Given the description of an element on the screen output the (x, y) to click on. 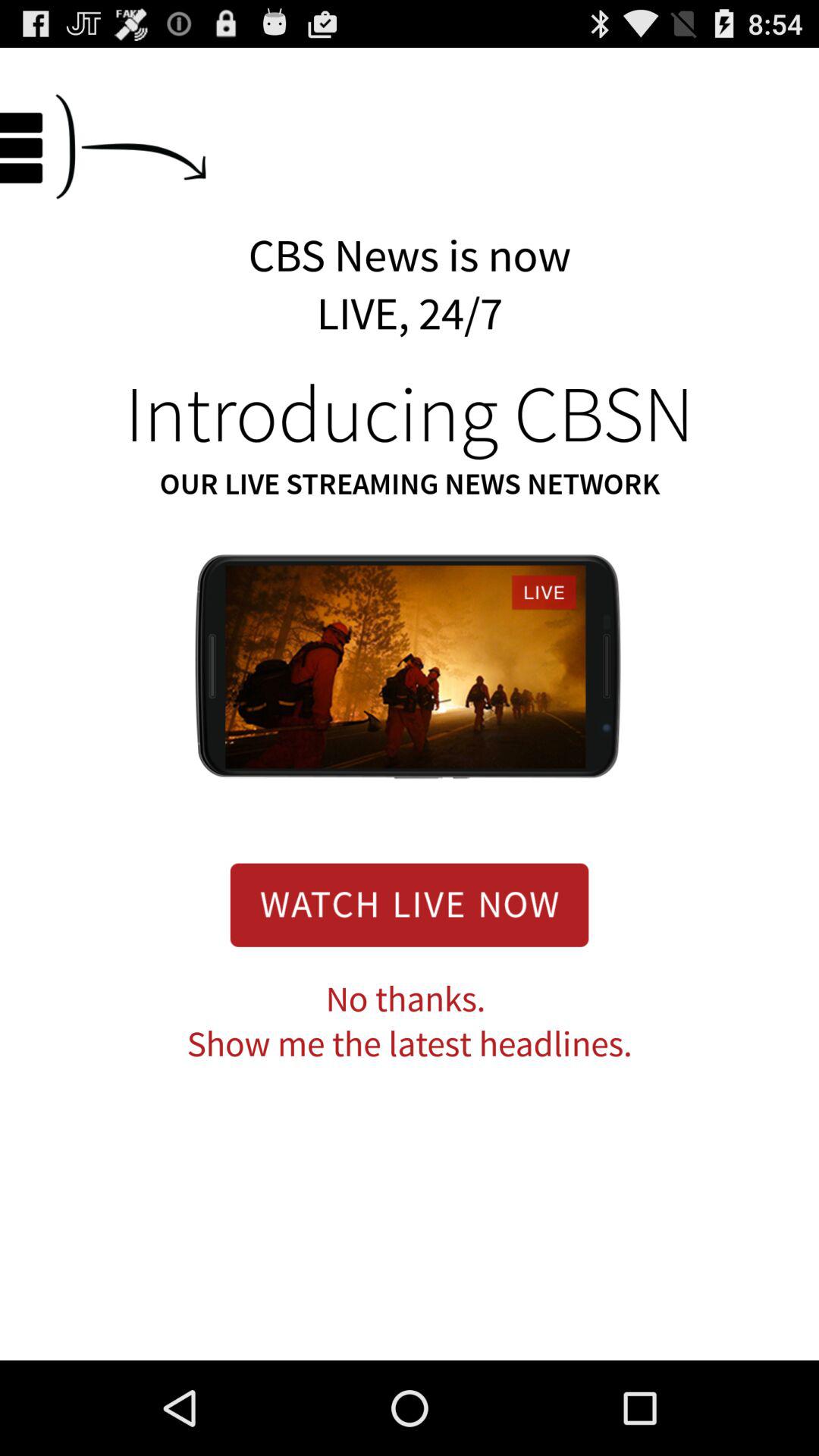
watch live (409, 904)
